Given the description of an element on the screen output the (x, y) to click on. 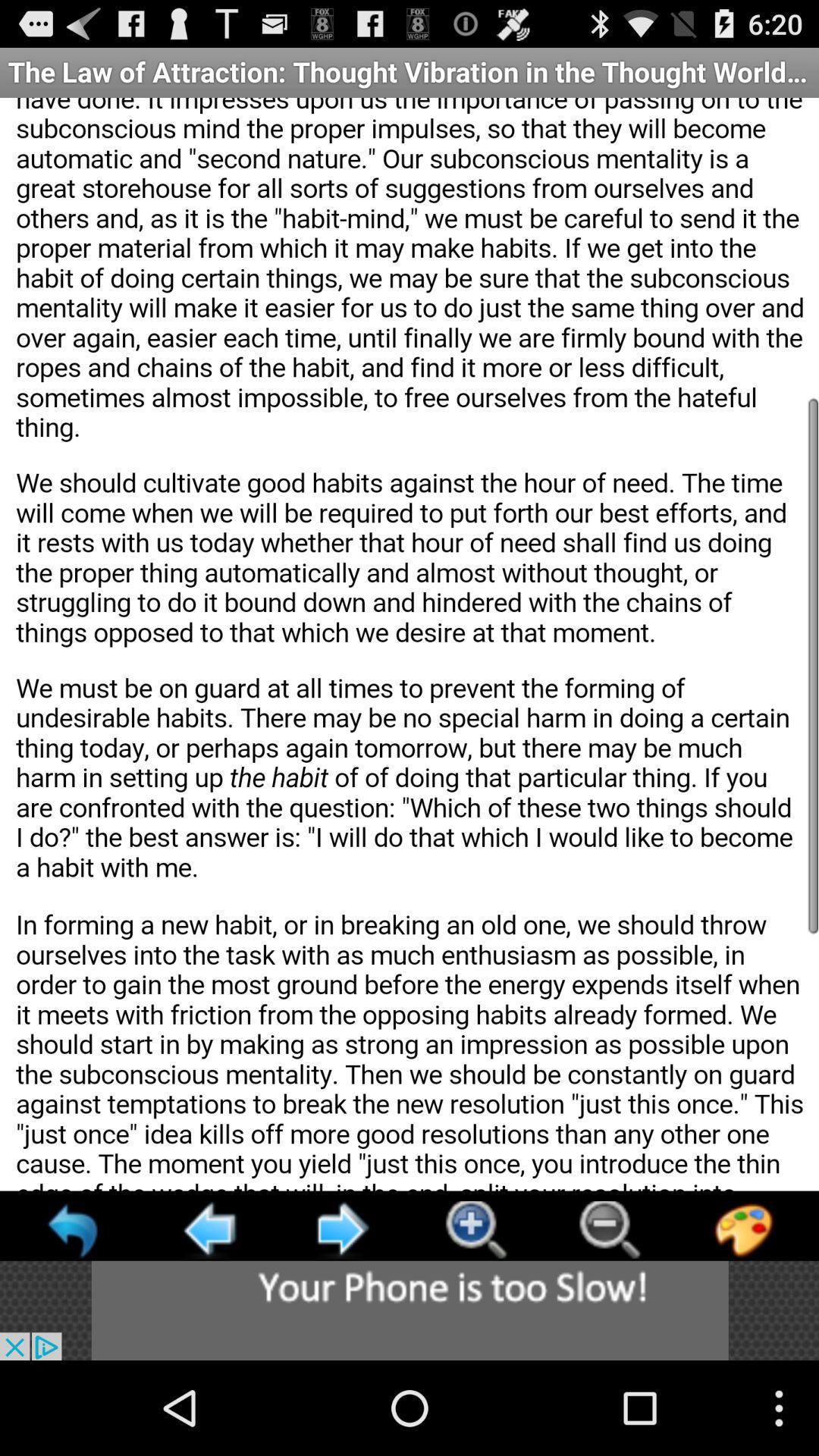
go back (74, 1229)
